Given the description of an element on the screen output the (x, y) to click on. 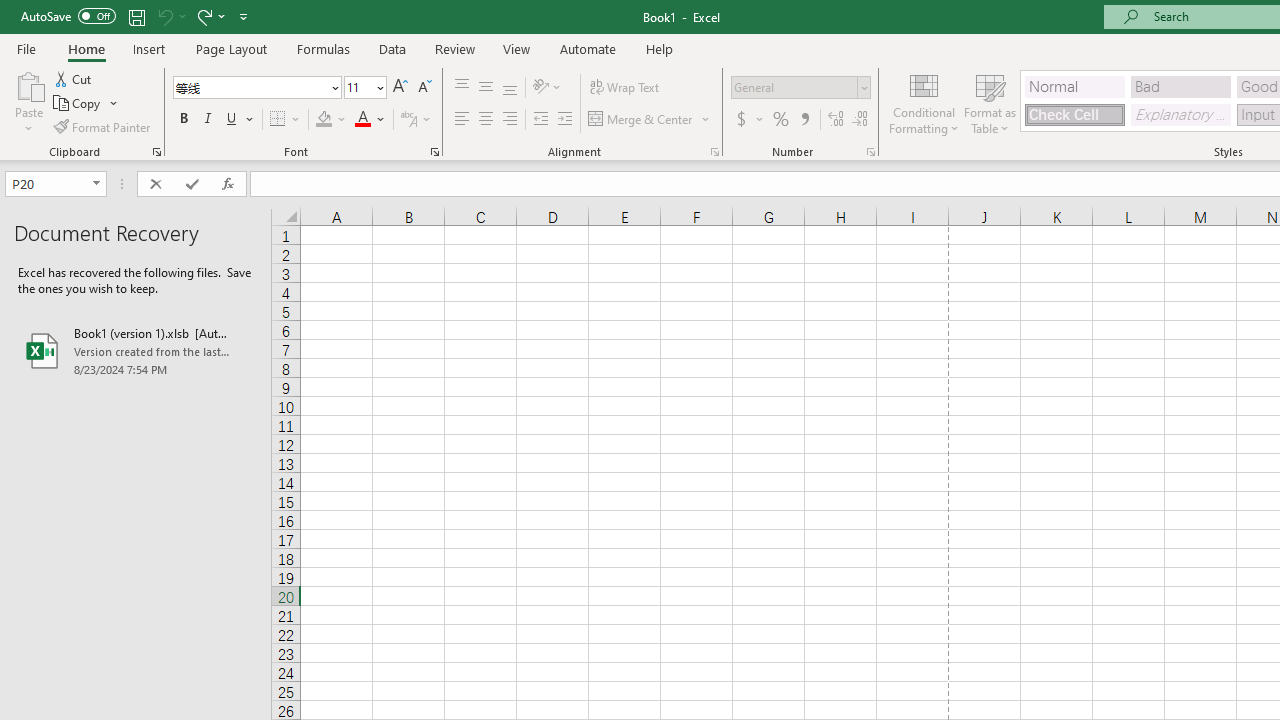
Fill Color RGB(255, 255, 0) (324, 119)
Bad (1180, 86)
Book1 (version 1).xlsb  [AutoRecovered] (136, 350)
Format Painter (103, 126)
Check Cell (1074, 114)
Decrease Decimal (859, 119)
Accounting Number Format (749, 119)
Underline (232, 119)
Font Size (358, 87)
